Given the description of an element on the screen output the (x, y) to click on. 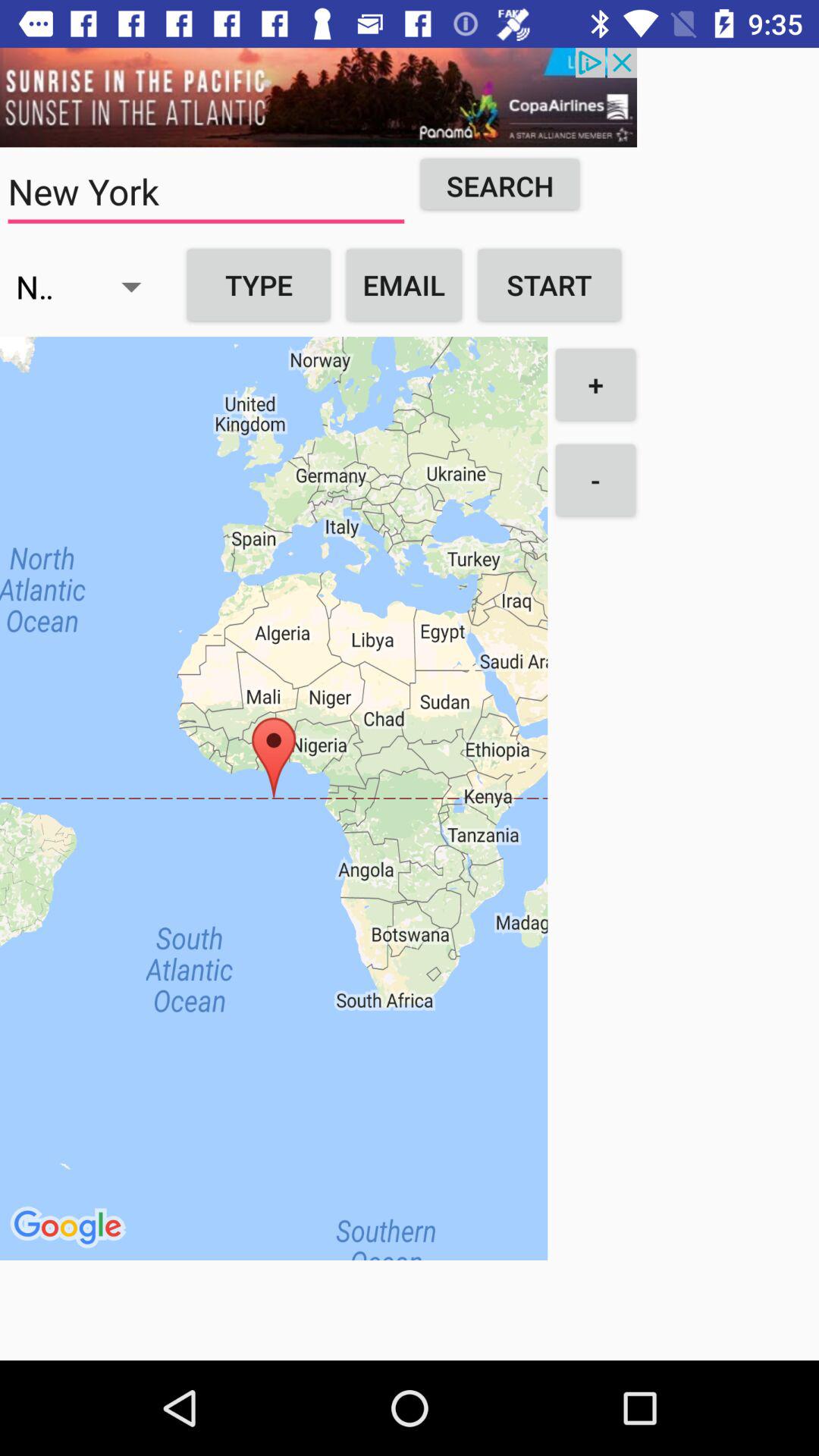
select the menu (318, 97)
